Given the description of an element on the screen output the (x, y) to click on. 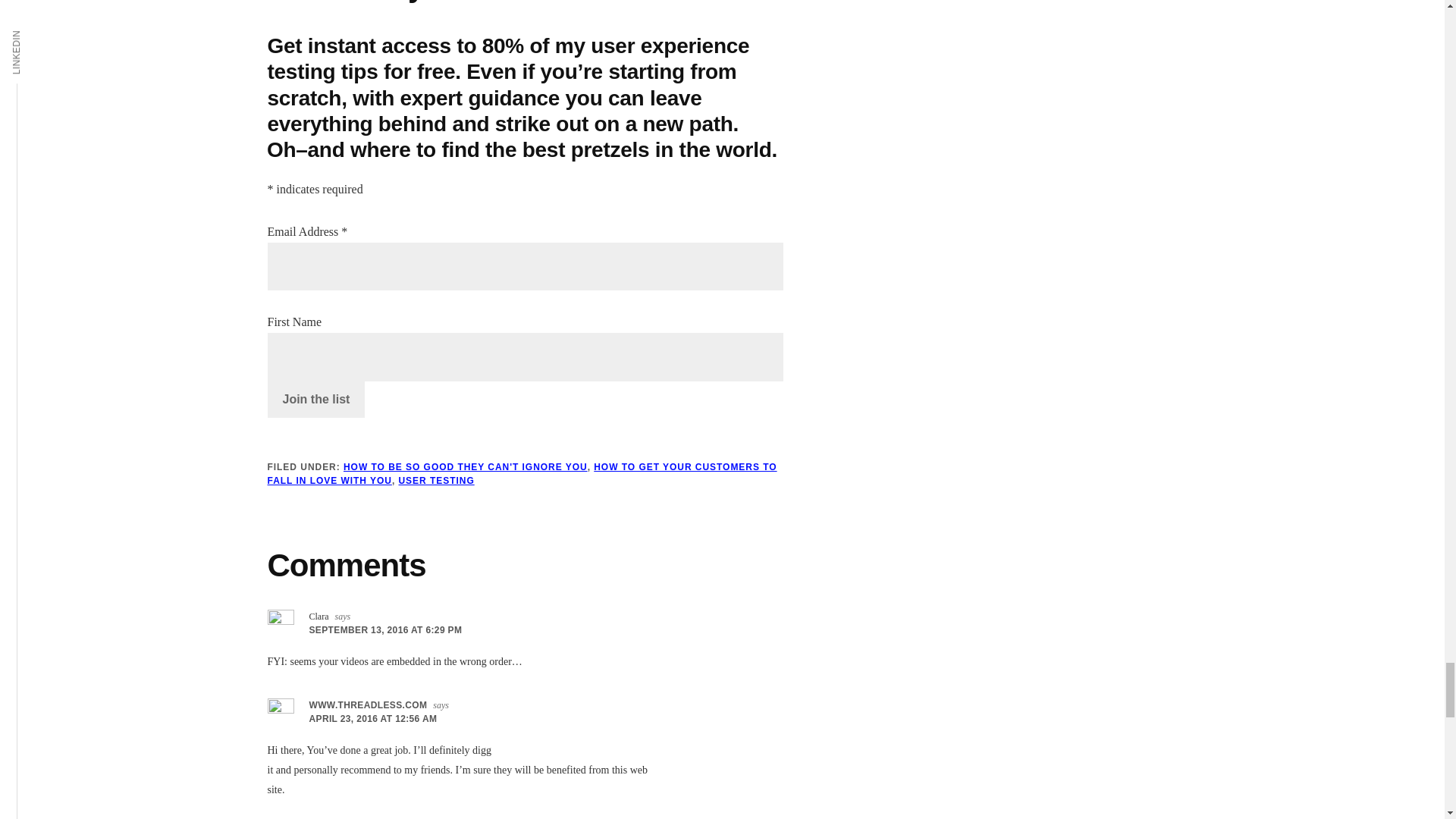
APRIL 23, 2016 AT 12:56 AM (373, 718)
SEPTEMBER 13, 2016 AT 6:29 PM (385, 629)
Join the list (315, 399)
Join the list (315, 399)
USER TESTING (435, 480)
HOW TO BE SO GOOD THEY CAN'T IGNORE YOU (465, 466)
WWW.THREADLESS.COM (368, 705)
HOW TO GET YOUR CUSTOMERS TO FALL IN LOVE WITH YOU (521, 473)
